Given the description of an element on the screen output the (x, y) to click on. 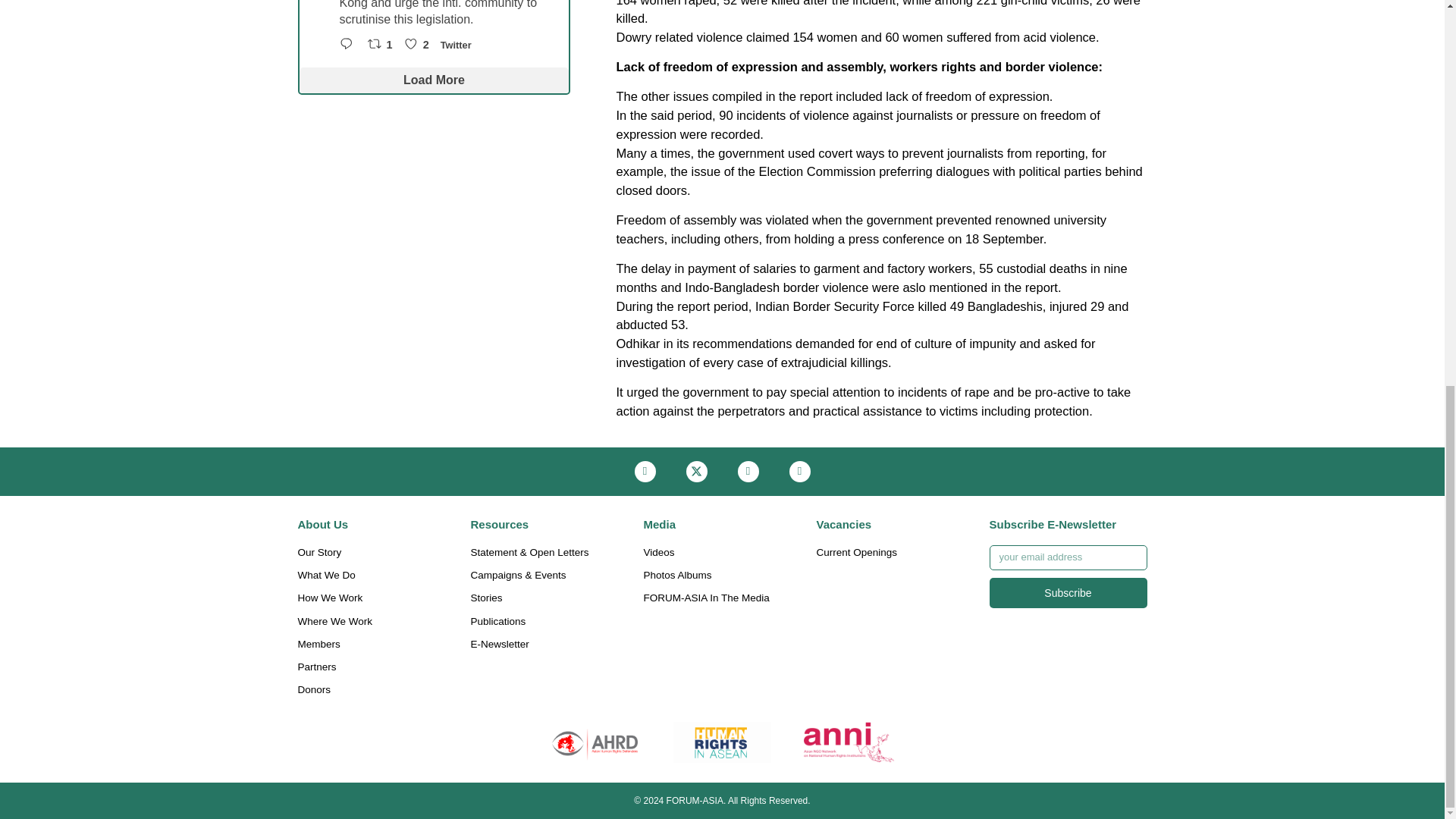
Default Title (722, 741)
Default Title (595, 741)
Default Title (848, 741)
